Given the description of an element on the screen output the (x, y) to click on. 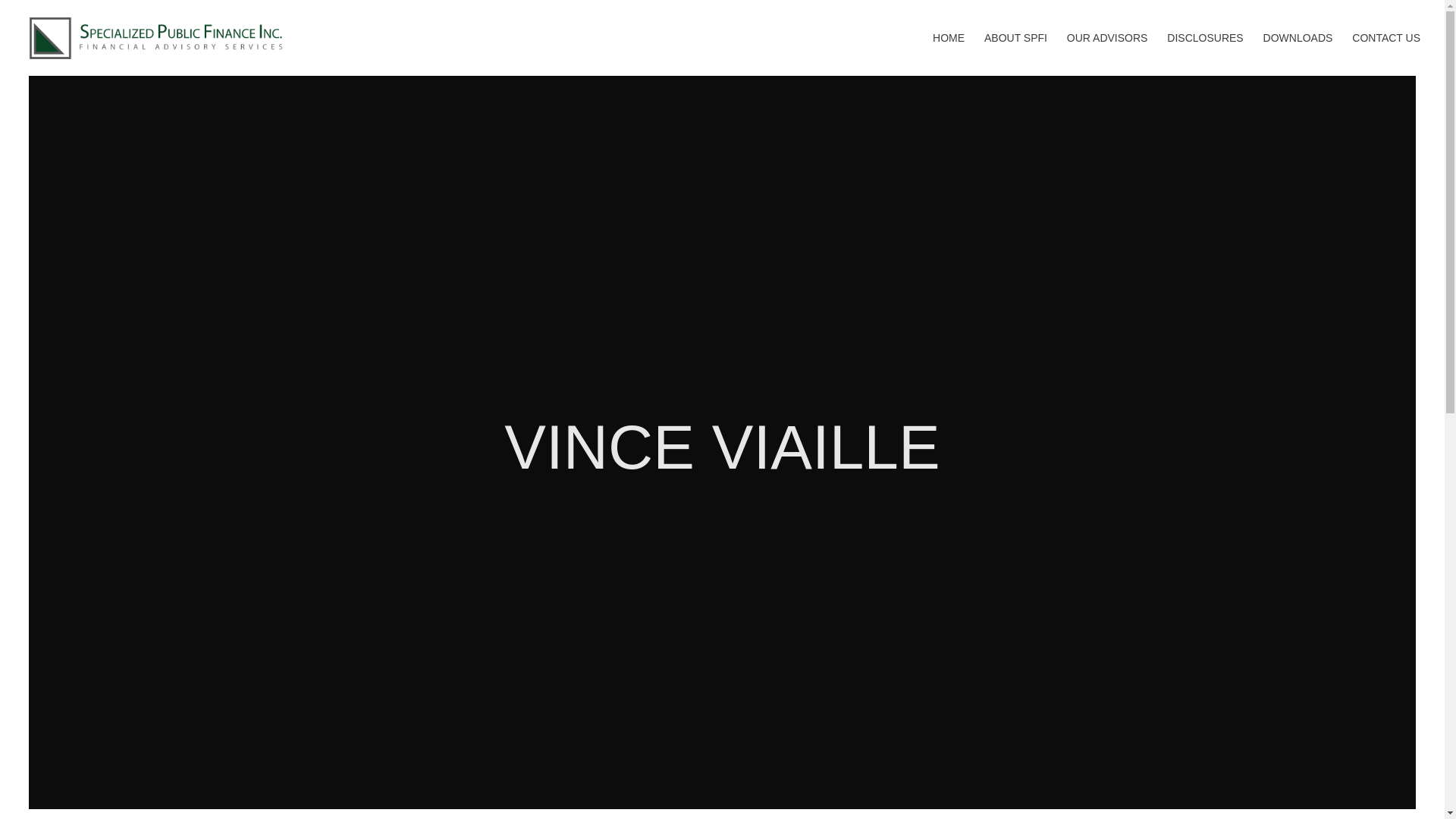
ABOUT SPFI (1015, 54)
HOME (948, 54)
CONTACT US (1386, 54)
DOWNLOADS (1298, 54)
DISCLOSURES (1205, 54)
OUR ADVISORS (1107, 54)
